Given the description of an element on the screen output the (x, y) to click on. 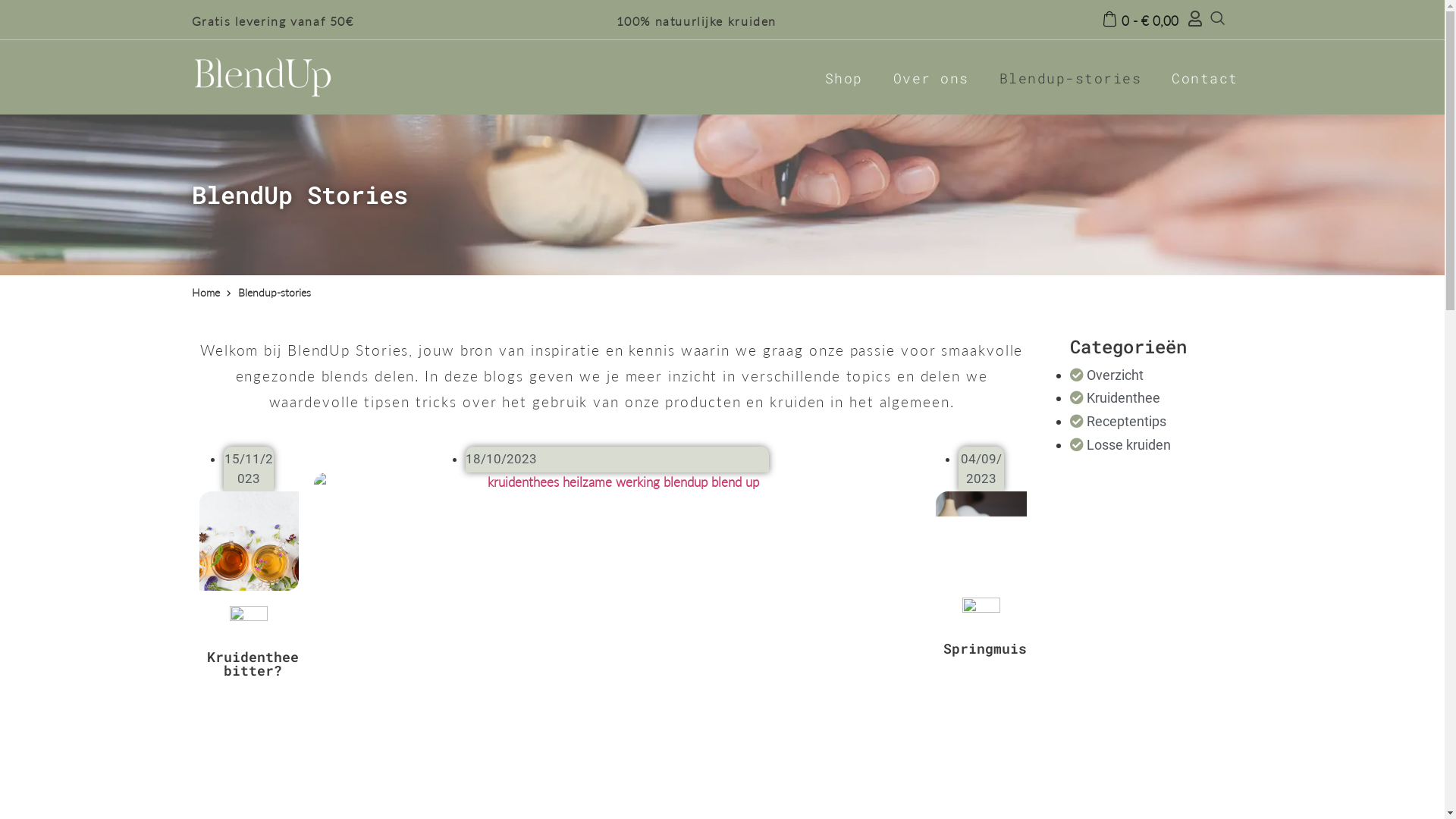
Contact Element type: text (1204, 77)
Overzicht Element type: text (1106, 374)
18/10/2023 Element type: text (500, 458)
04/09/2023 Element type: text (980, 468)
Kruidenthee bitter? Element type: text (252, 663)
Shop Element type: text (843, 77)
Kruidenthee Element type: text (1115, 397)
Blendup-stories Element type: text (1070, 77)
Home Element type: text (205, 292)
Losse kruiden Element type: text (1120, 444)
15/11/2023 Element type: text (248, 468)
Over ons Element type: text (931, 77)
Receptentips Element type: text (1118, 421)
Springmuis Element type: text (984, 648)
